Given the description of an element on the screen output the (x, y) to click on. 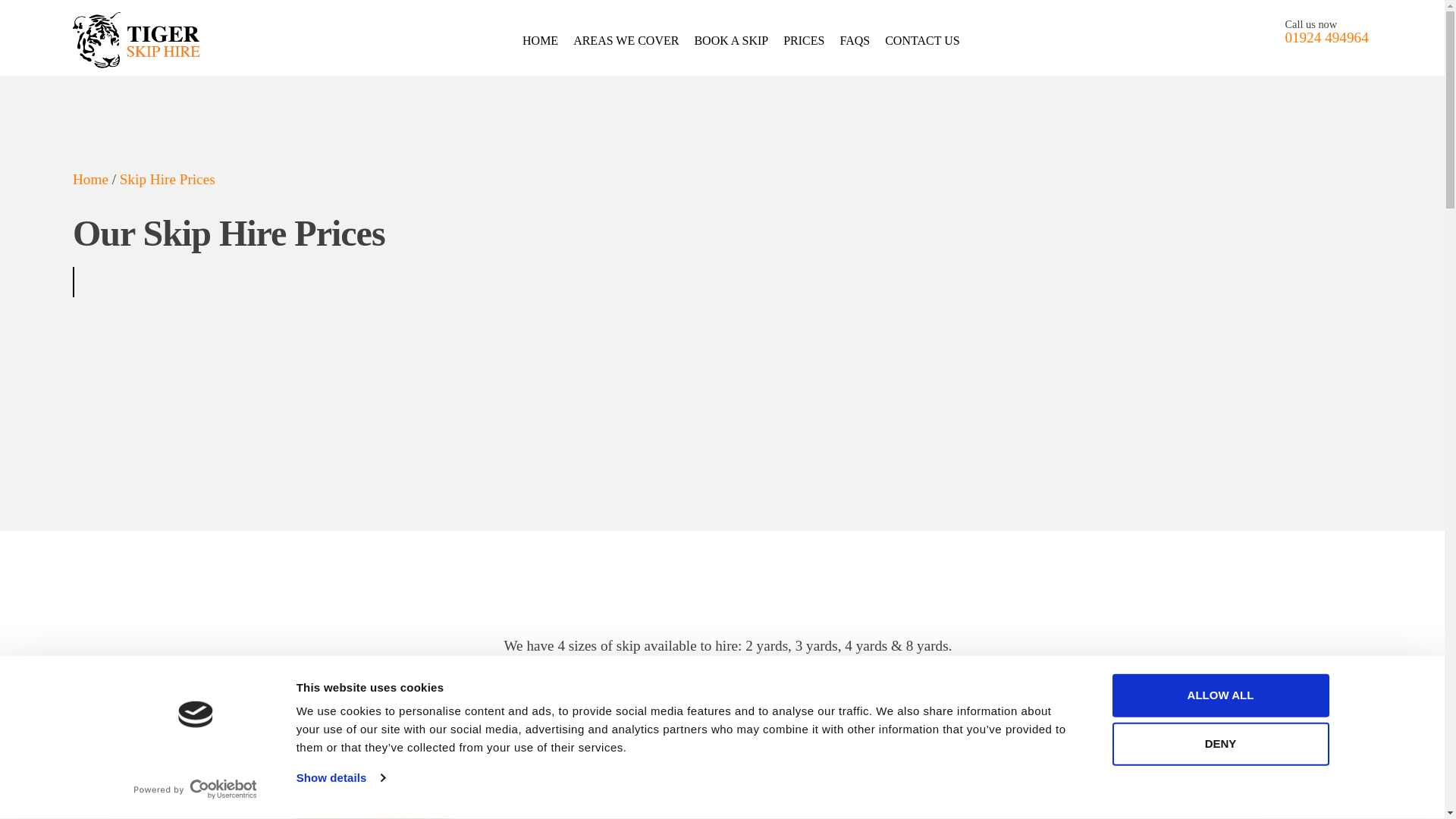
PRICES (803, 40)
FAQS (854, 40)
HOME (539, 40)
AREAS WE COVER (625, 40)
01924 494964 (1326, 37)
Home (89, 179)
BOOK A SKIP (731, 40)
CONTACT US (922, 40)
ALLOW ALL (1219, 695)
DENY (1219, 743)
